Given the description of an element on the screen output the (x, y) to click on. 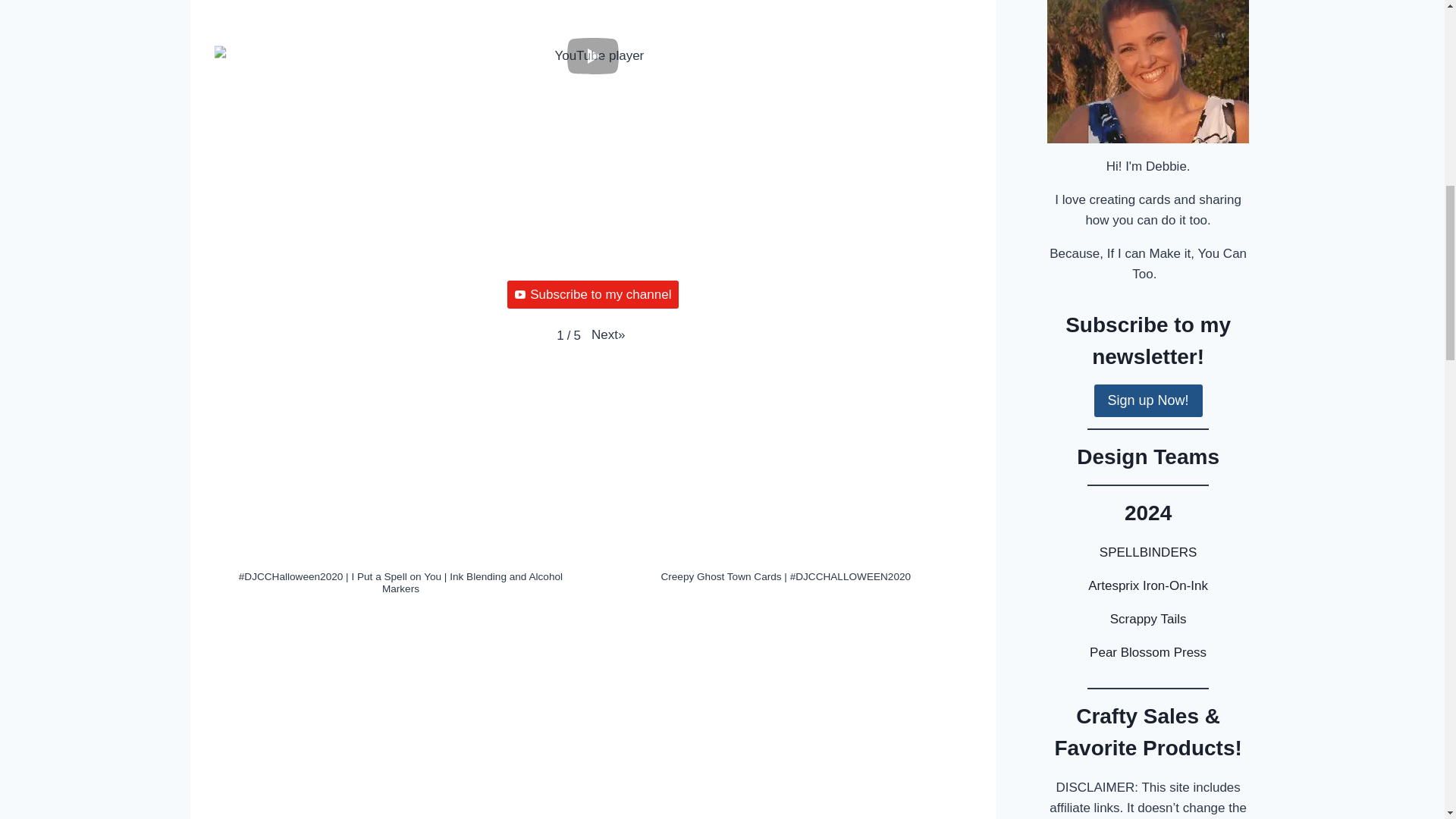
Subscribe to my channel (592, 294)
